Given the description of an element on the screen output the (x, y) to click on. 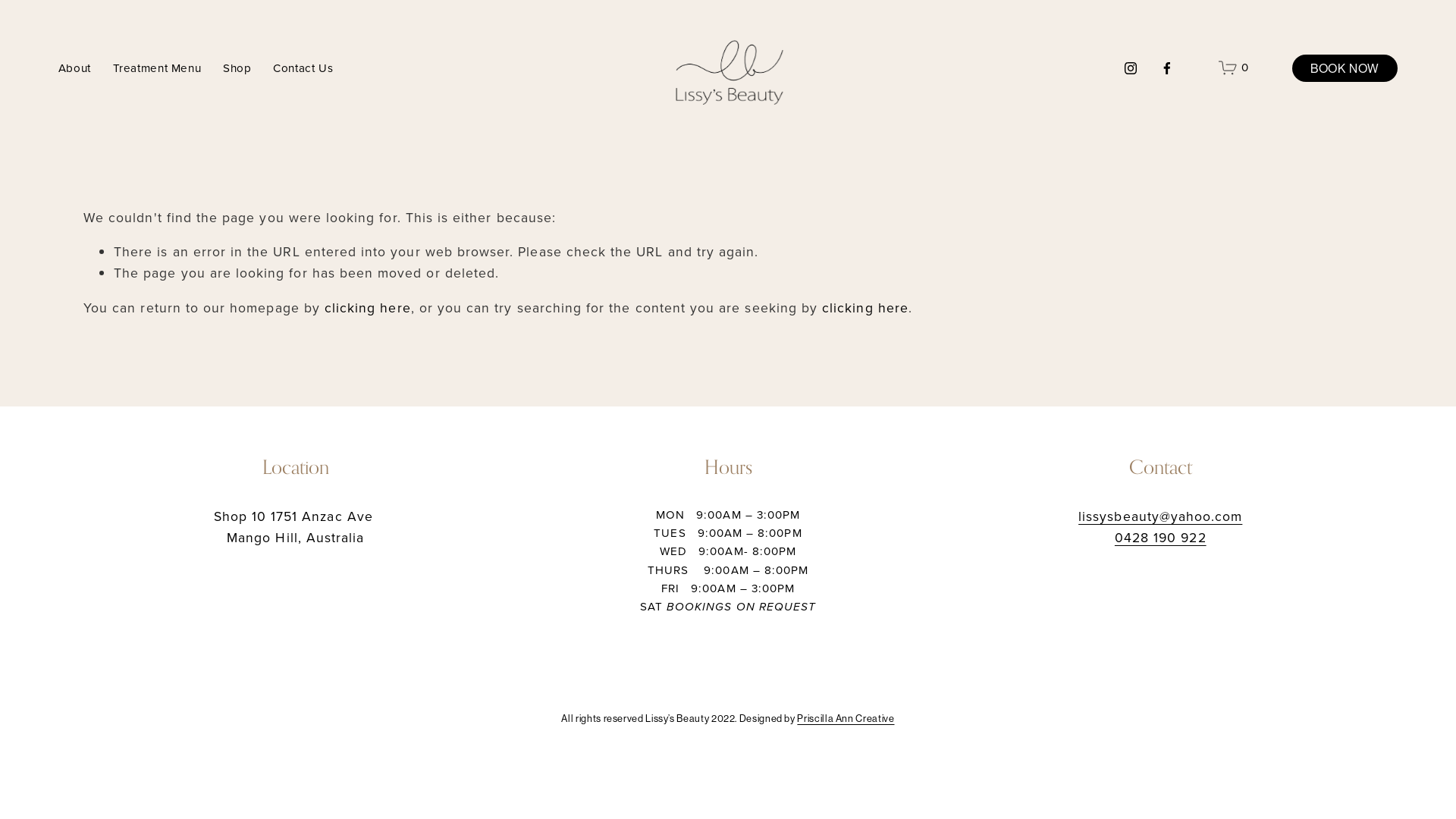
BOOK NOW Element type: text (1344, 67)
clicking here Element type: text (865, 307)
0 Element type: text (1233, 67)
lissysbeauty@yahoo.com Element type: text (1160, 516)
Priscilla Ann Creative Element type: text (845, 718)
0428 190 922 Element type: text (1160, 537)
About Element type: text (74, 67)
Shop Element type: text (236, 67)
Treatment Menu Element type: text (156, 67)
clicking here Element type: text (367, 307)
Contact Us Element type: text (302, 67)
